Given the description of an element on the screen output the (x, y) to click on. 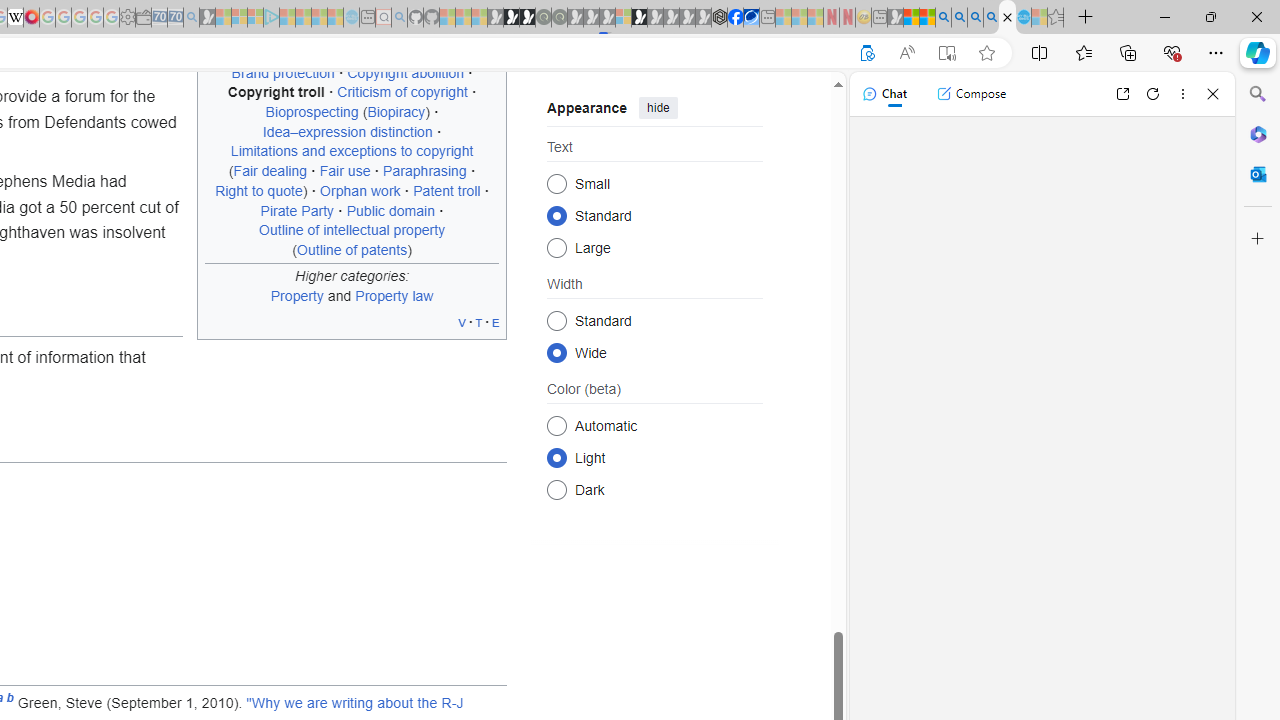
Class: mw-list-item mw-list-item-js (654, 457)
Copyright abolition (405, 72)
hide (658, 107)
More options (1182, 93)
Large (556, 246)
Microsoft 365 (1258, 133)
Support Wikipedia? (867, 53)
